Given the description of an element on the screen output the (x, y) to click on. 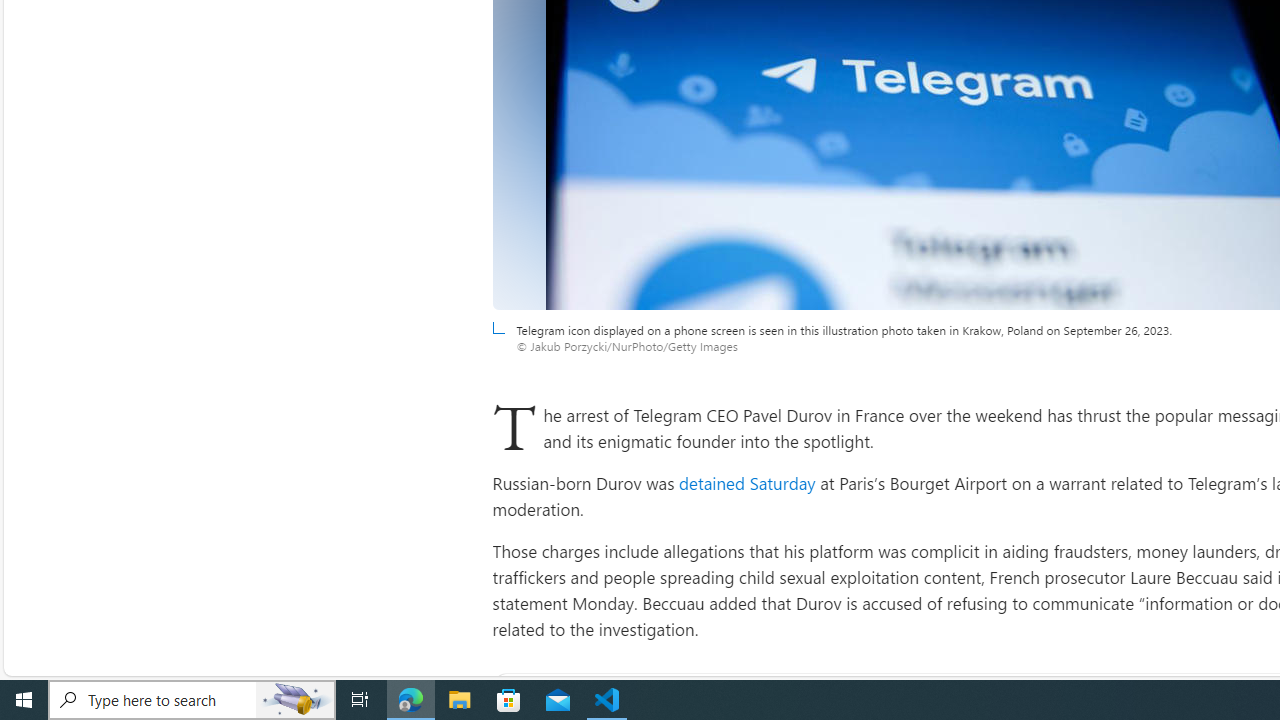
detained Saturday (747, 482)
